Given the description of an element on the screen output the (x, y) to click on. 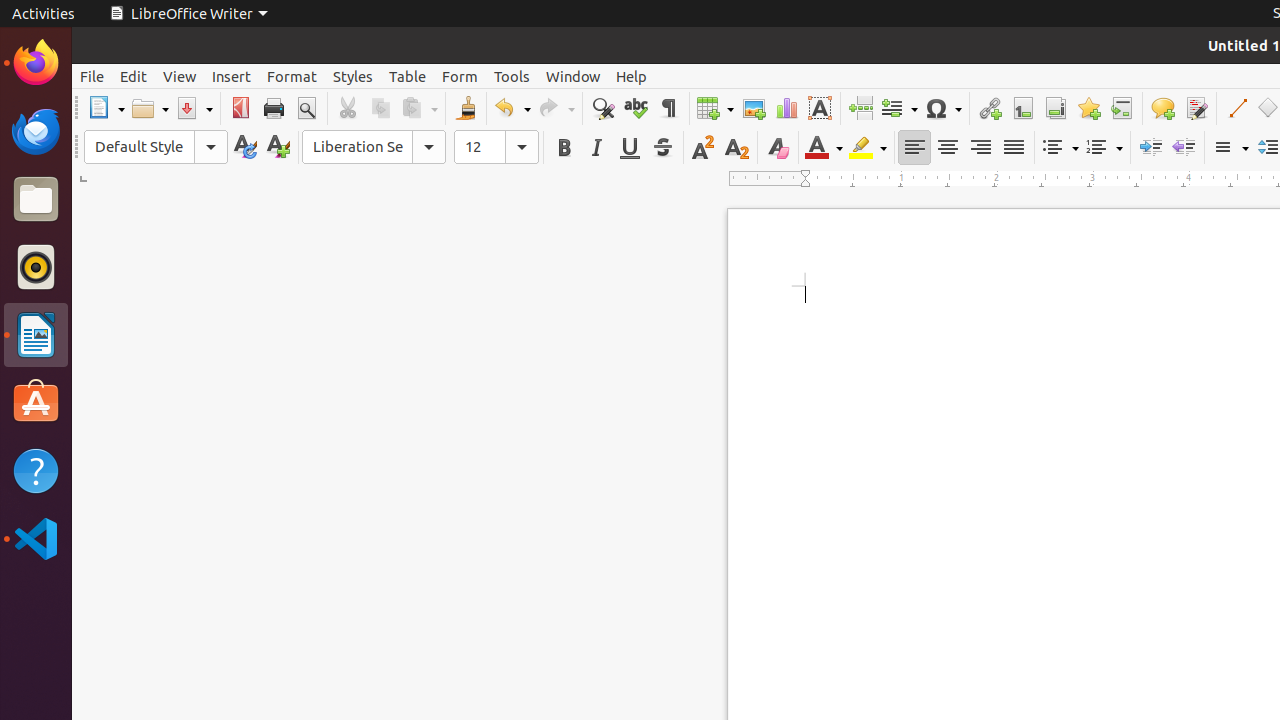
Help Element type: push-button (36, 470)
File Element type: menu (92, 76)
New Element type: push-button (277, 147)
Clone Element type: push-button (465, 108)
Bold Element type: toggle-button (563, 147)
